Given the description of an element on the screen output the (x, y) to click on. 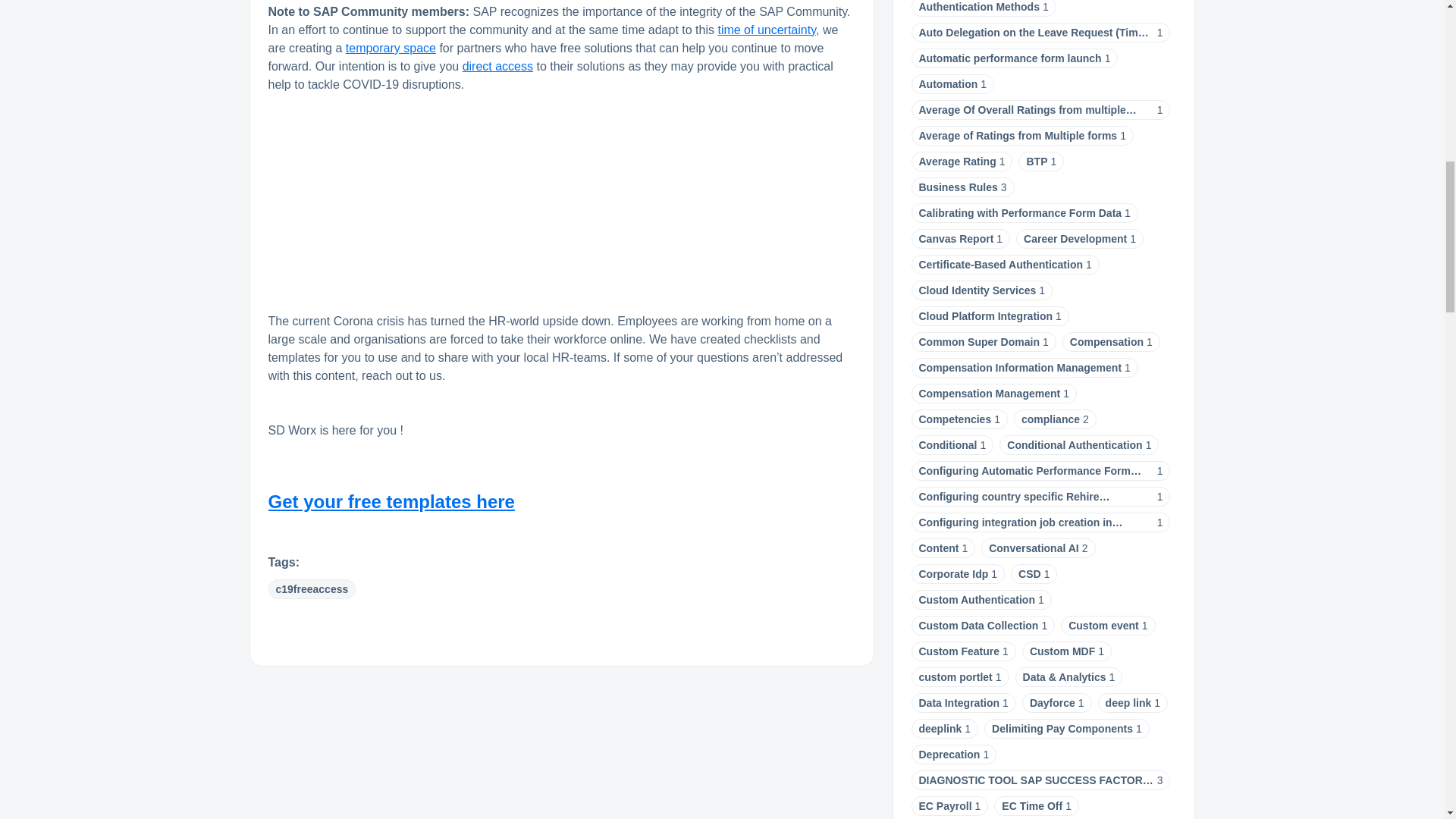
time of uncertainty (766, 29)
temporary space (390, 47)
Get your free templates here (391, 501)
direct access (497, 65)
c19freeaccess (311, 588)
